Given the description of an element on the screen output the (x, y) to click on. 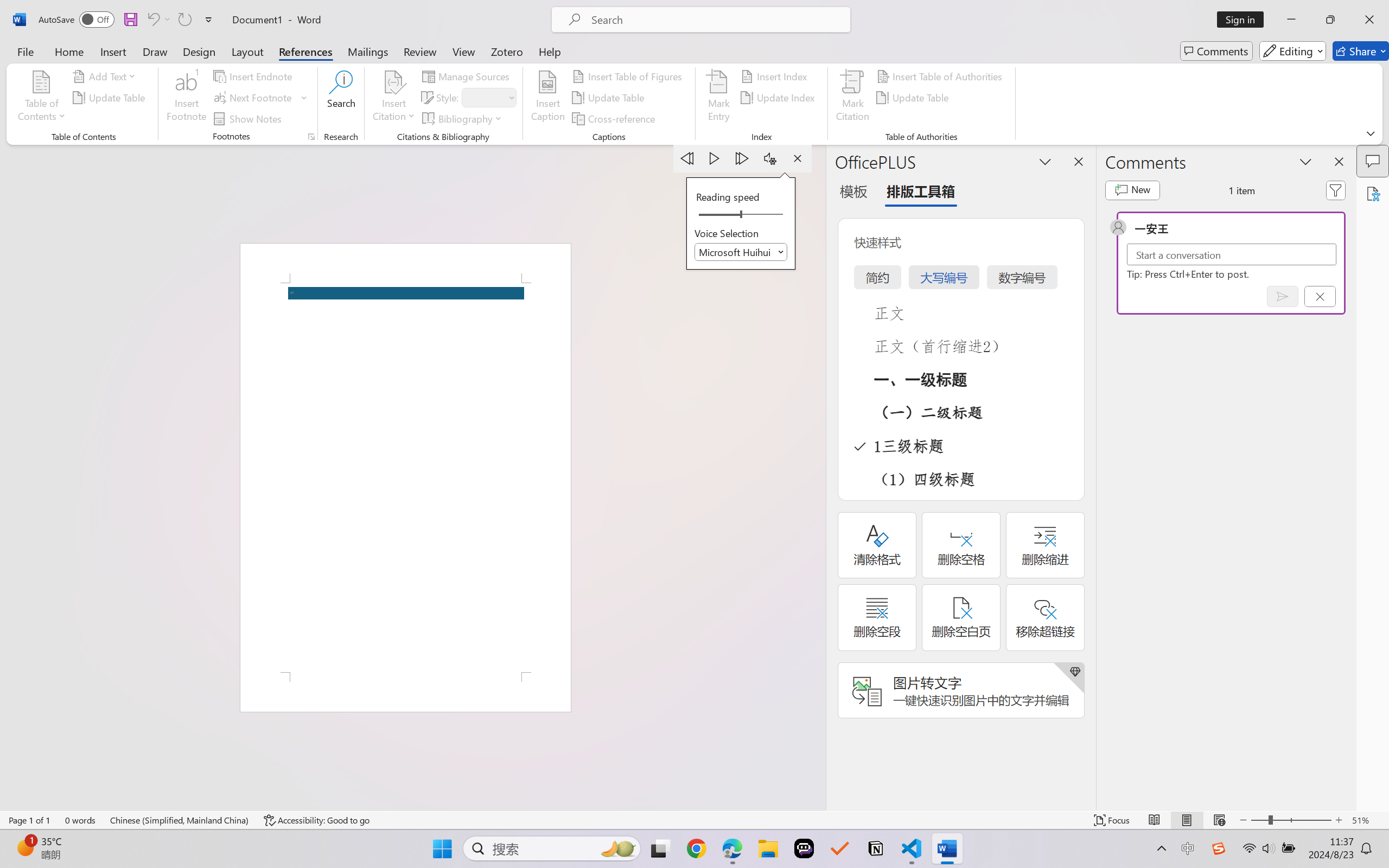
Undo Apply Quick Style Set (158, 19)
Filter (1335, 190)
New comment (1132, 190)
Show Notes (248, 118)
Post comment (Ctrl + Enter) (1282, 296)
Editing (1292, 50)
Add Text (106, 75)
Insert Table of Figures... (628, 75)
Insert Index... (775, 75)
